Given the description of an element on the screen output the (x, y) to click on. 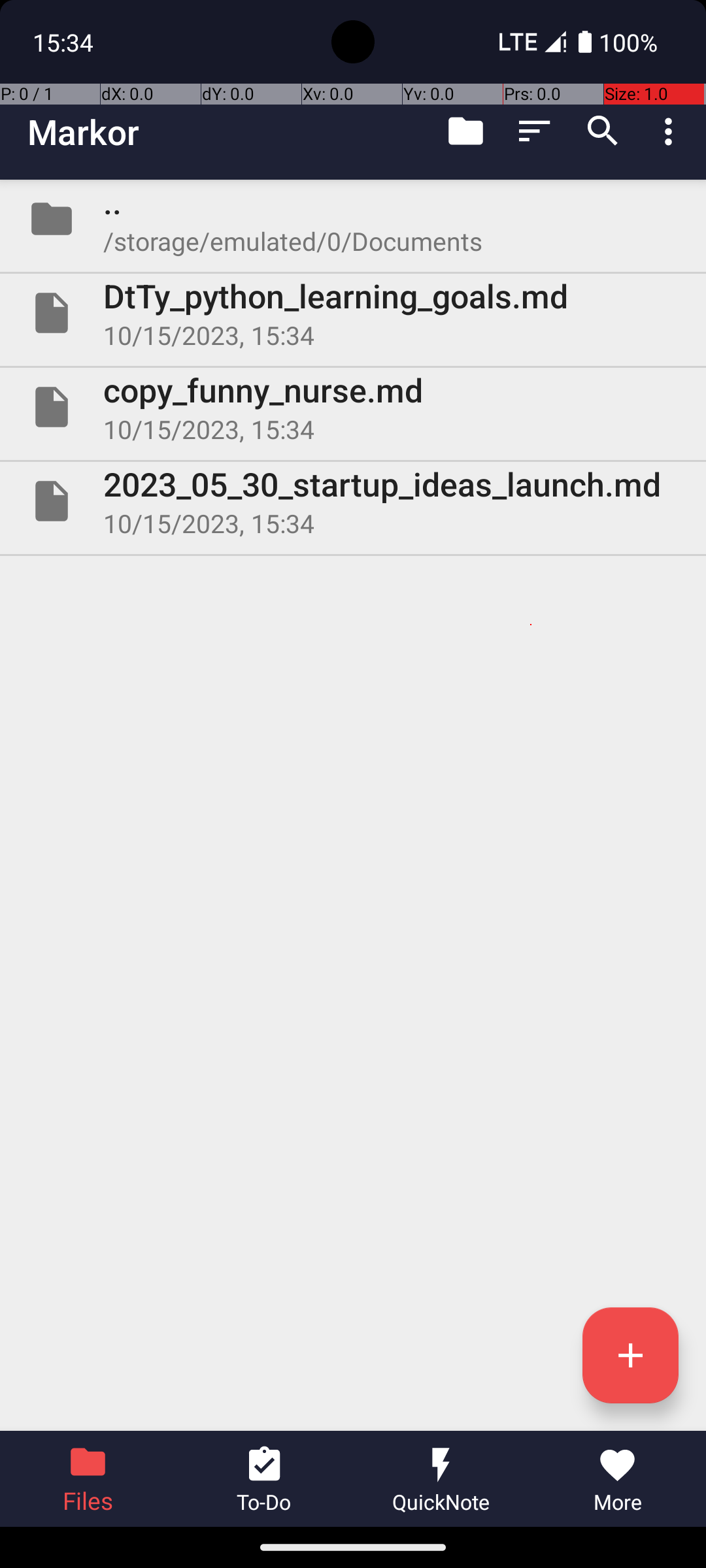
File DtTy_python_learning_goals.md 10/15/2023, 15:34 Element type: android.widget.LinearLayout (353, 312)
File copy_funny_nurse.md 10/15/2023, 15:34 Element type: android.widget.LinearLayout (353, 406)
File 2023_05_30_startup_ideas_launch.md 10/15/2023, 15:34 Element type: android.widget.LinearLayout (353, 500)
